Given the description of an element on the screen output the (x, y) to click on. 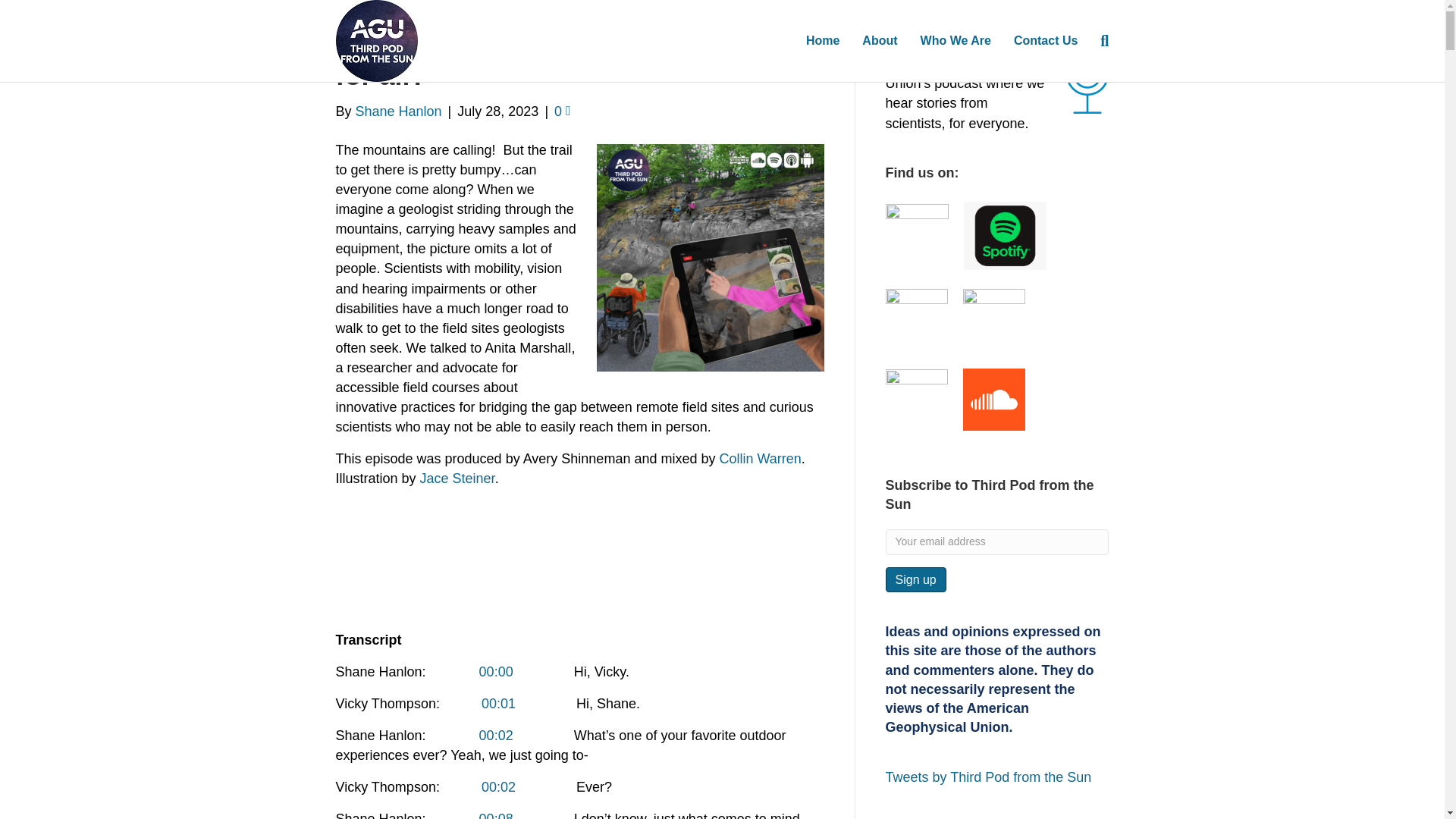
00:00 (496, 671)
Contact Us (1046, 40)
00:01 (498, 703)
Sign up (915, 579)
Who We Are (955, 40)
00:02 (496, 735)
00:08 (496, 815)
0 (562, 111)
Home (822, 40)
Collin Warren (759, 458)
Jace Steiner (457, 478)
About (879, 40)
Shane Hanlon (398, 111)
00:02 (498, 786)
